Given the description of an element on the screen output the (x, y) to click on. 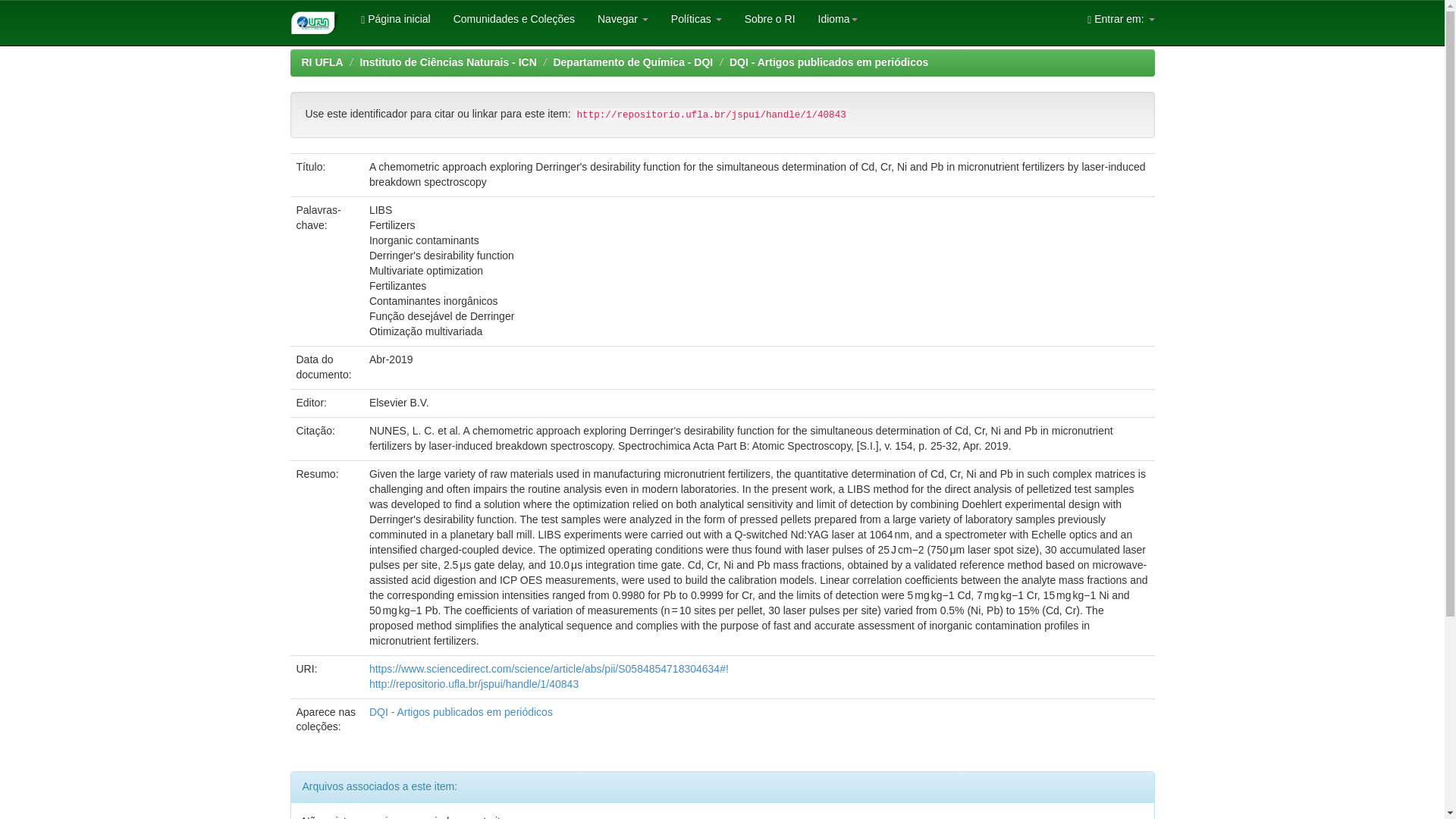
Navegar (622, 18)
Idioma (837, 18)
Sobre o RI (769, 18)
RI UFLA (322, 61)
Entrar em: (1120, 18)
